Given the description of an element on the screen output the (x, y) to click on. 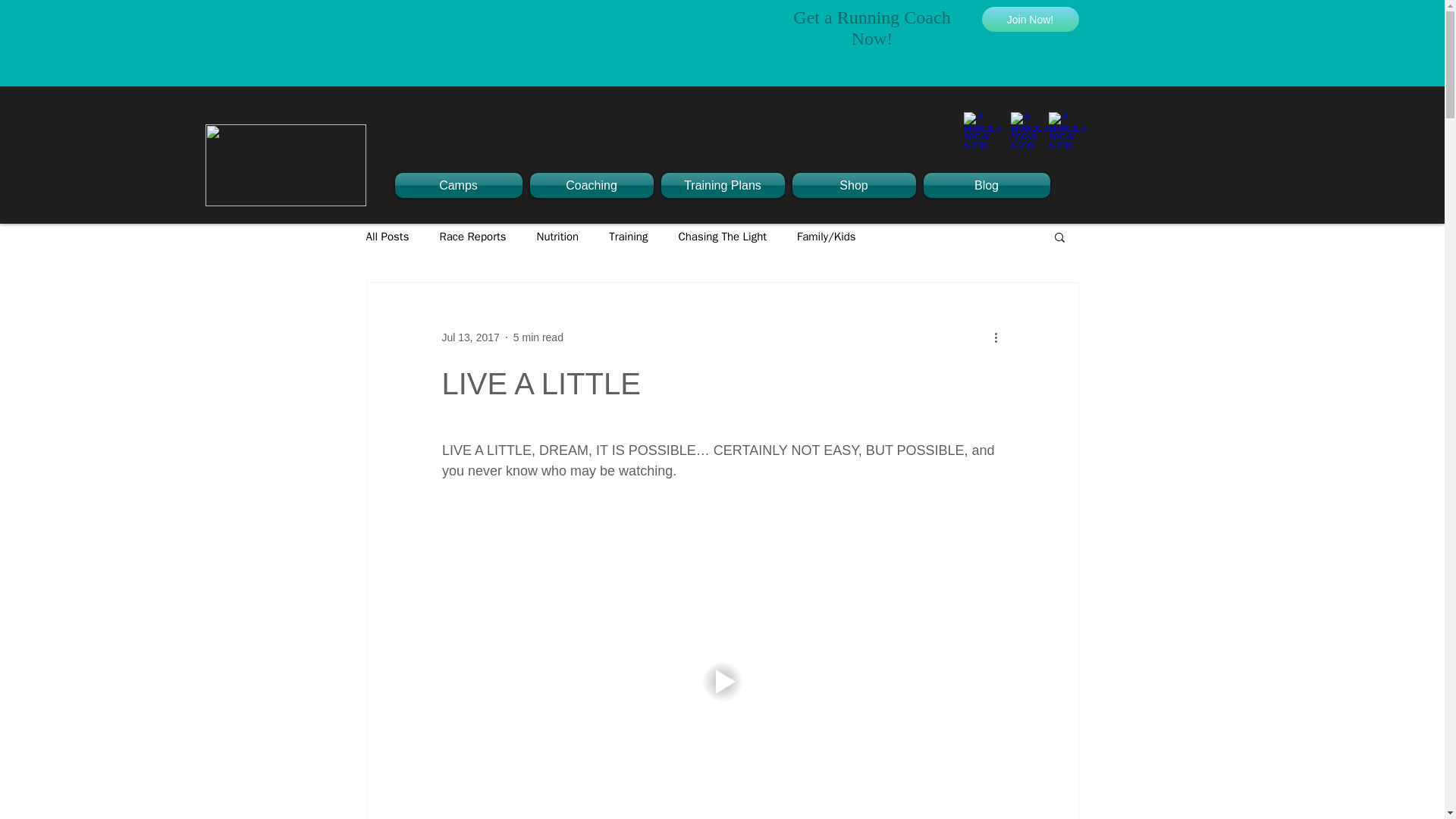
Join Now! (1029, 18)
5 min read (538, 336)
Training (627, 236)
Chasing The Light (722, 236)
Training Plans (721, 185)
Camps (459, 185)
All Posts (387, 236)
Race Reports (472, 236)
Blog (983, 185)
Shop (854, 185)
